Given the description of an element on the screen output the (x, y) to click on. 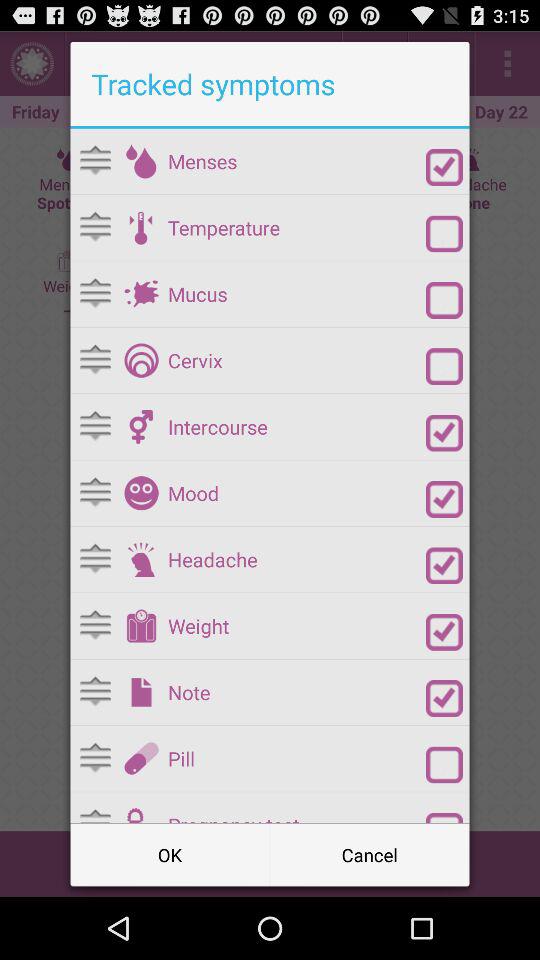
tap the mood (296, 493)
